Given the description of an element on the screen output the (x, y) to click on. 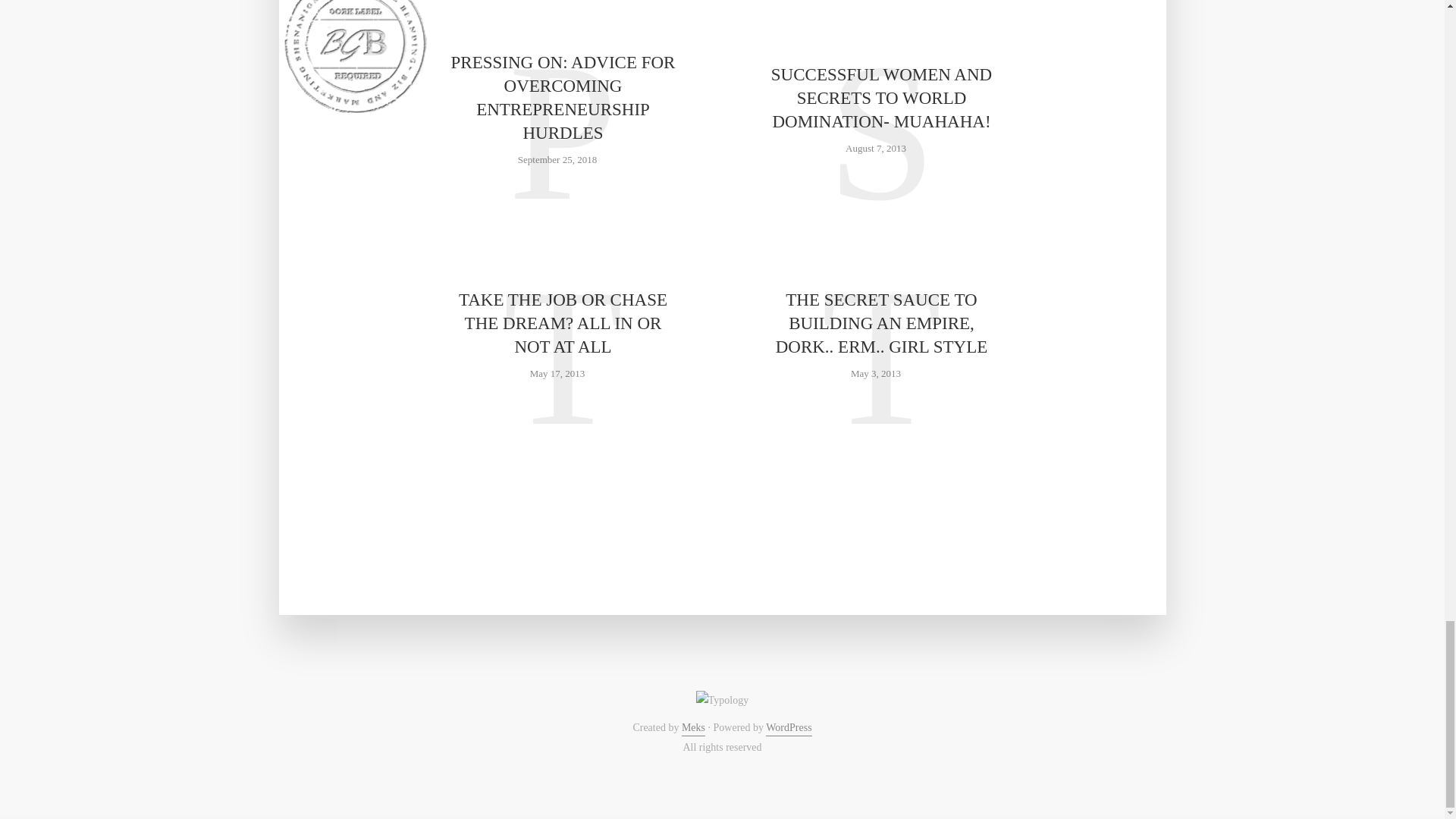
TAKE THE JOB OR CHASE THE DREAM? ALL IN OR NOT AT ALL (562, 323)
PRESSING ON: ADVICE FOR OVERCOMING ENTREPRENEURSHIP HURDLES (562, 97)
SUCCESSFUL WOMEN AND SECRETS TO WORLD DOMINATION- MUAHAHA! (880, 98)
